Given the description of an element on the screen output the (x, y) to click on. 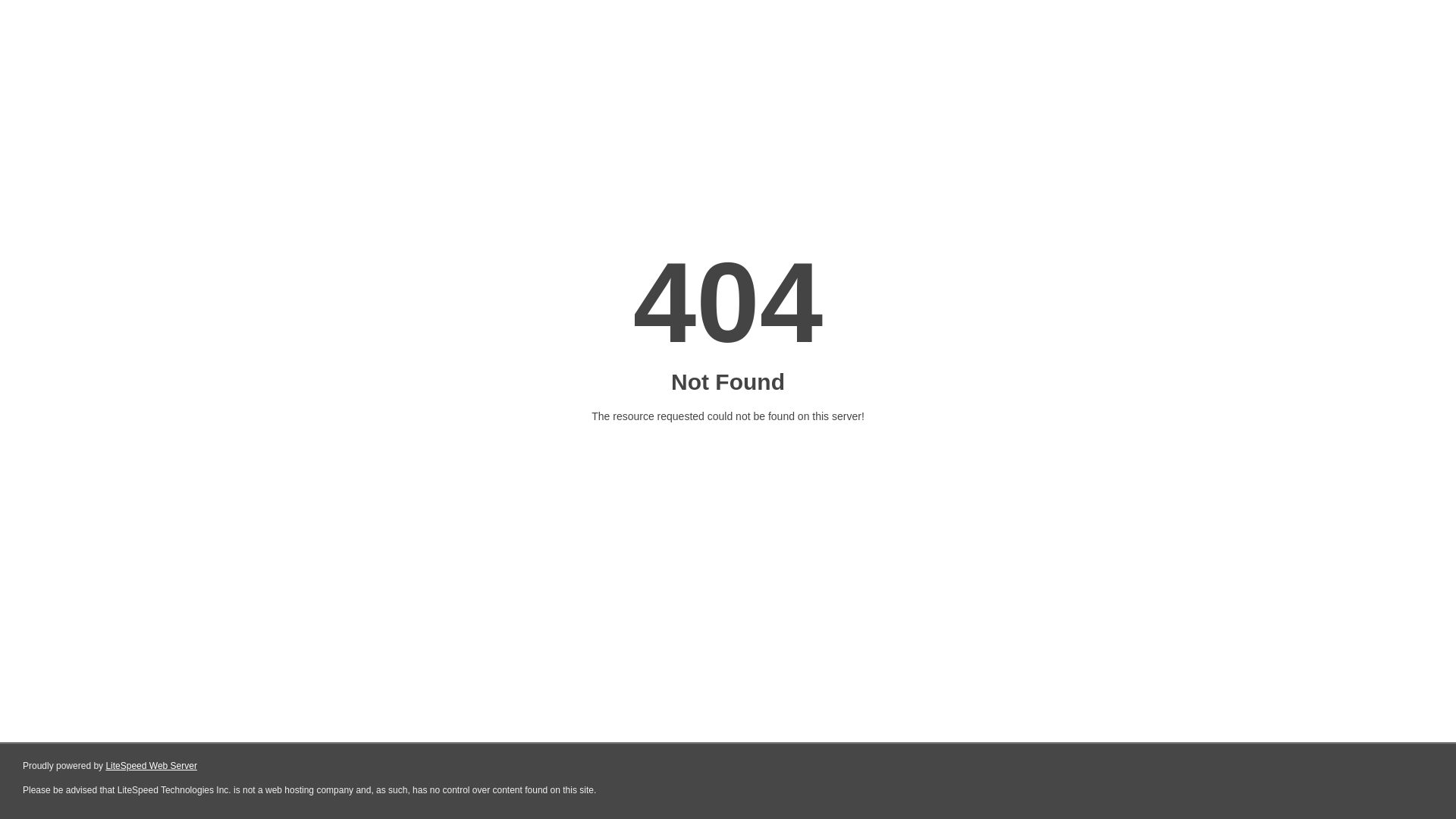
LiteSpeed Web Server Element type: text (151, 765)
